Given the description of an element on the screen output the (x, y) to click on. 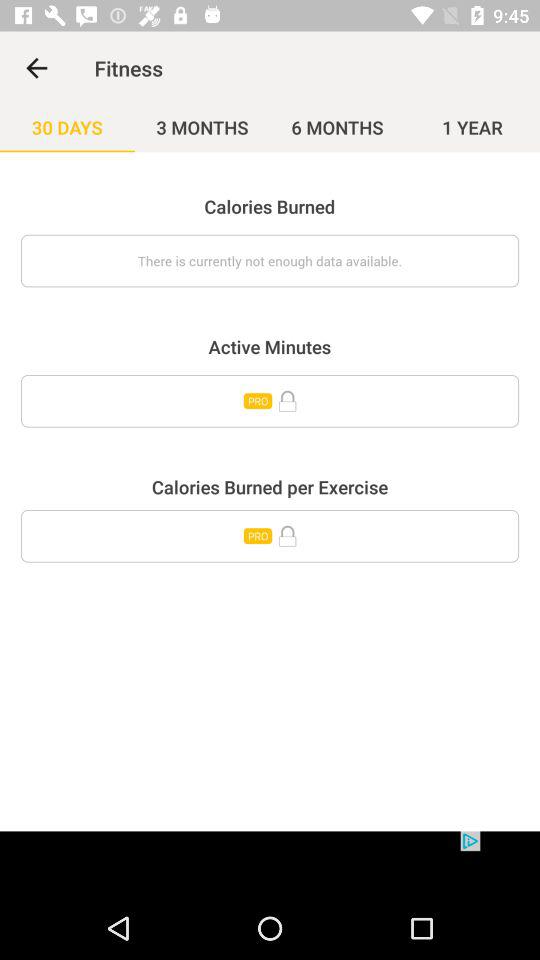
tap item next to the fitness (36, 68)
